Given the description of an element on the screen output the (x, y) to click on. 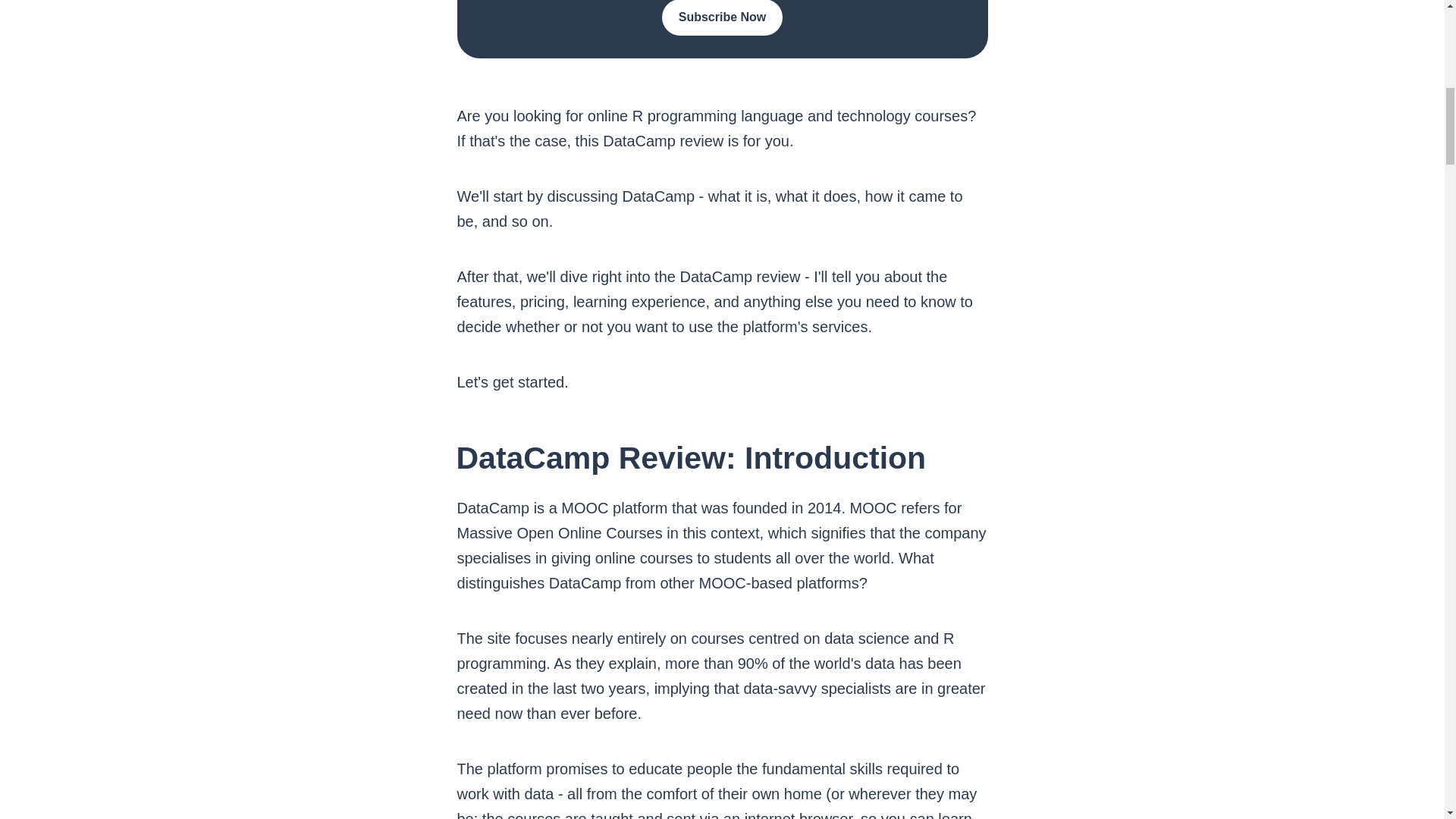
Subscribe Now (722, 18)
